Given the description of an element on the screen output the (x, y) to click on. 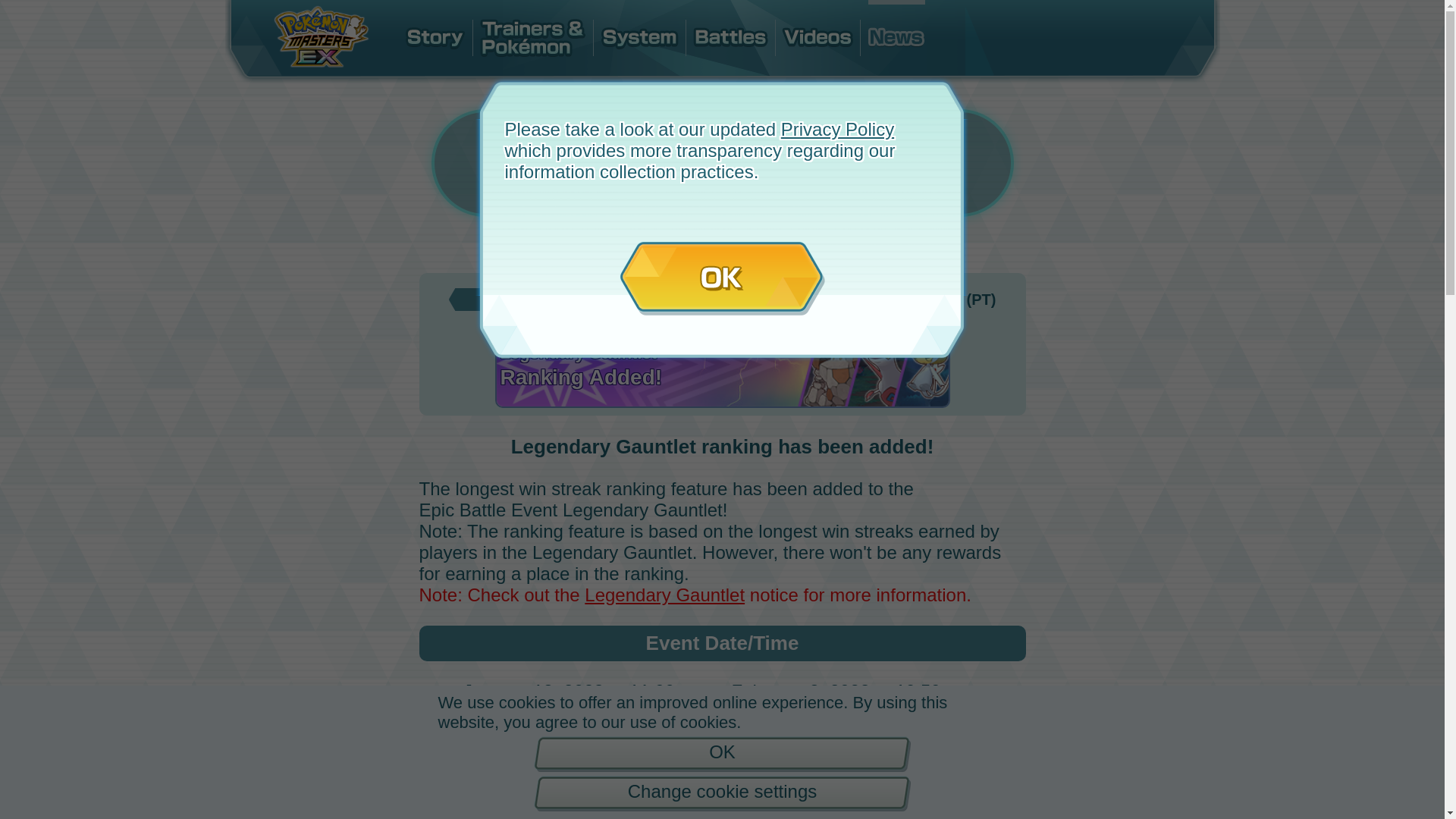
Change cookie settings (722, 793)
Legendary Gauntlet notice (691, 594)
Privacy Policy (836, 128)
